Given the description of an element on the screen output the (x, y) to click on. 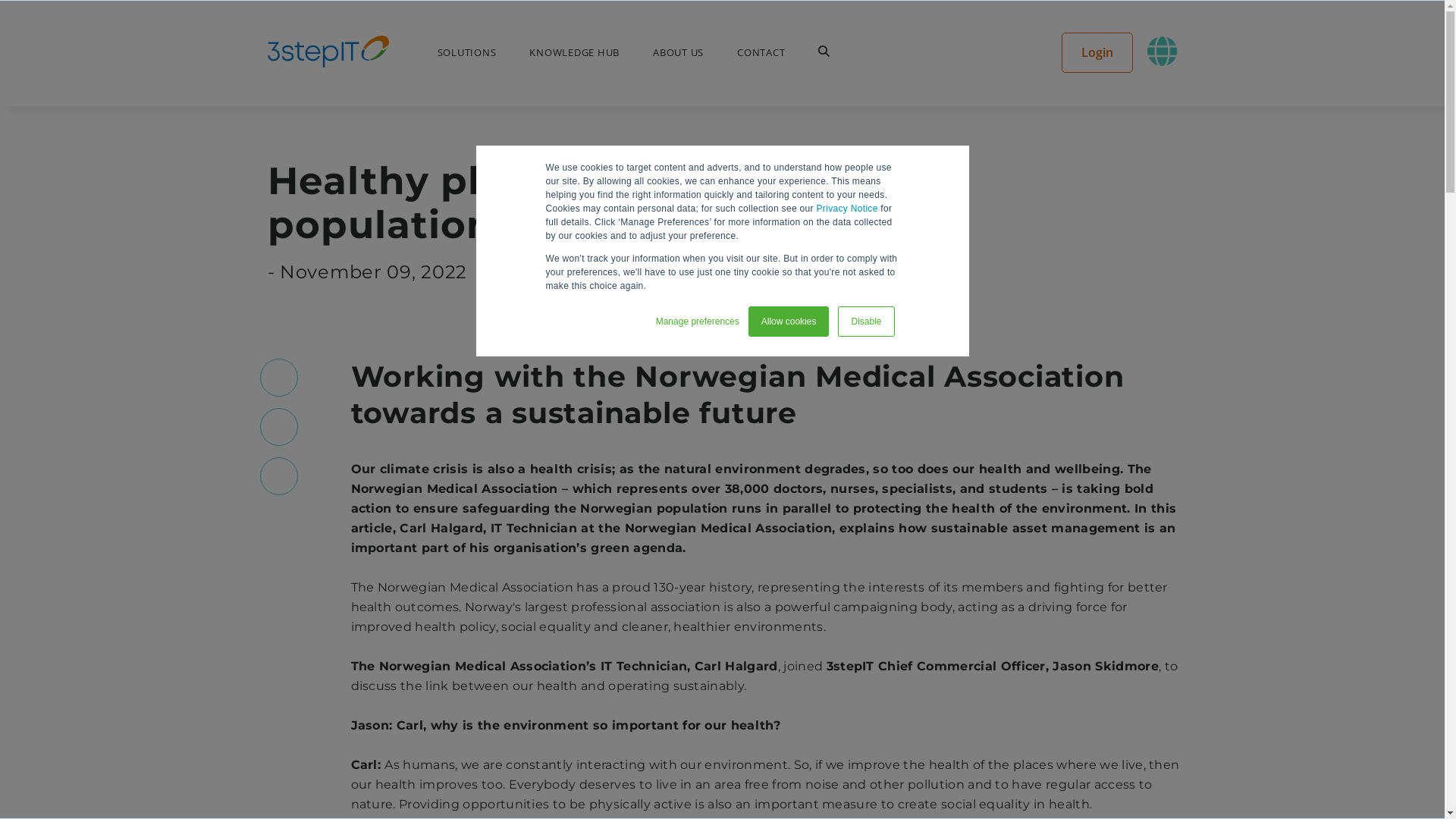
KNOWLEDGE HUB Element type: text (574, 52)
Login Element type: text (1096, 52)
Disable Element type: text (865, 321)
CONTACT Element type: text (760, 52)
ABOUT US Element type: text (677, 52)
SOLUTIONS Element type: text (466, 52)
Privacy Notice Element type: text (847, 208)
Manage preferences Element type: text (697, 320)
Allow cookies Element type: text (788, 321)
